Given the description of an element on the screen output the (x, y) to click on. 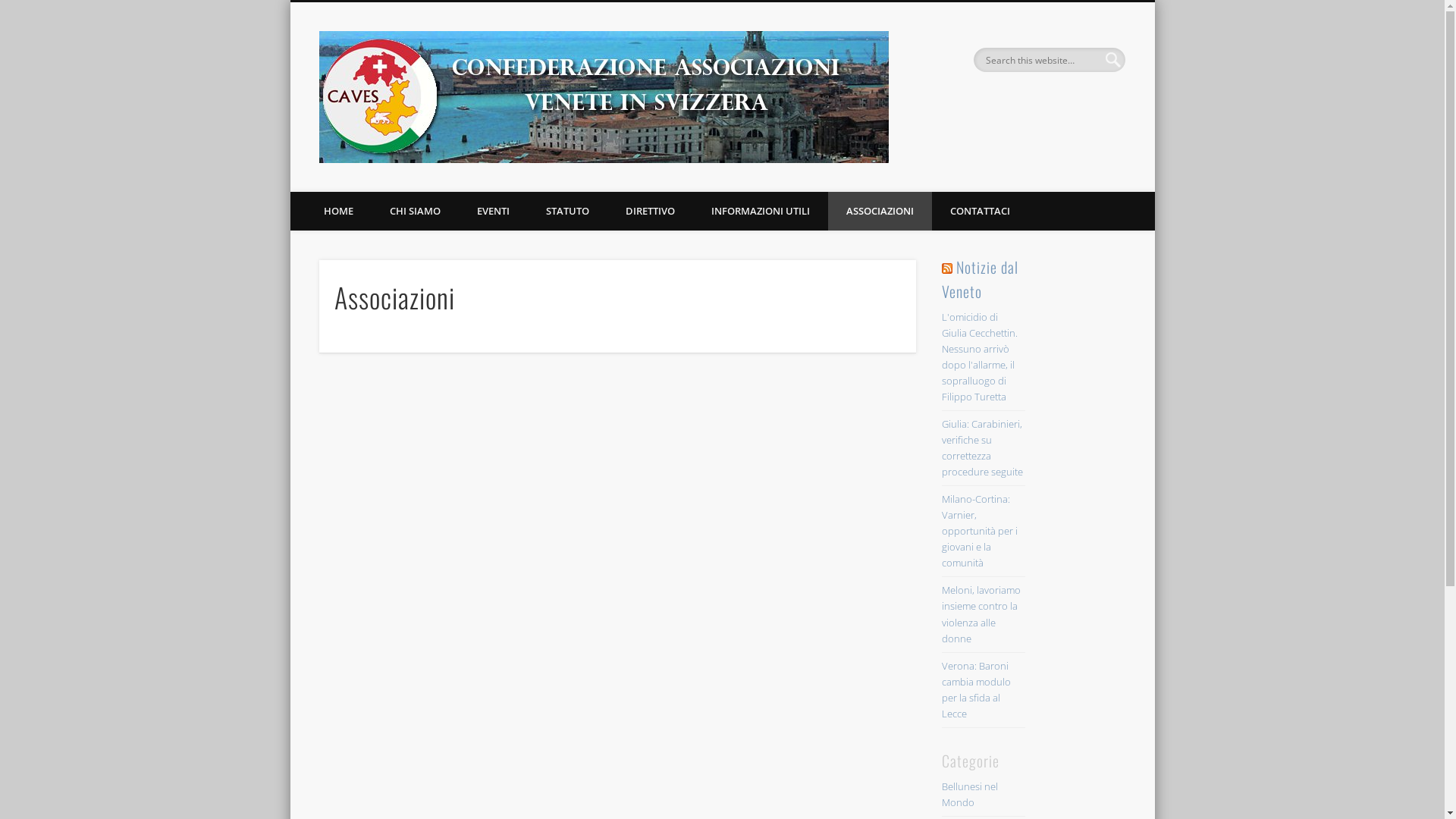
Notizie dal Veneto Element type: text (979, 278)
CHI SIAMO Element type: text (414, 210)
Verona: Baroni cambia modulo per la sfida al Lecce Element type: text (975, 689)
STATUTO Element type: text (567, 210)
DIRETTIVO Element type: text (649, 210)
EVENTI Element type: text (492, 210)
ASSOCIAZIONI Element type: text (879, 210)
HOME Element type: text (337, 210)
Meloni, lavoriamo insieme contro la violenza alle donne Element type: text (980, 613)
associazionivenete.ch Element type: text (986, 59)
Search Element type: text (11, 9)
CONTATTACI Element type: text (979, 210)
INFORMAZIONI UTILI Element type: text (760, 210)
Bellunesi nel Mondo Element type: text (969, 794)
